Given the description of an element on the screen output the (x, y) to click on. 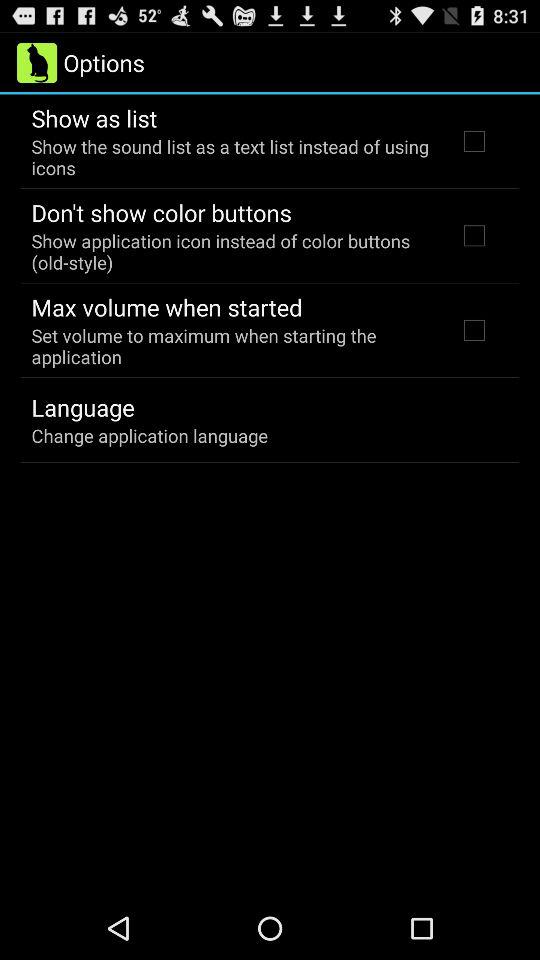
flip to the don t show item (161, 212)
